Given the description of an element on the screen output the (x, y) to click on. 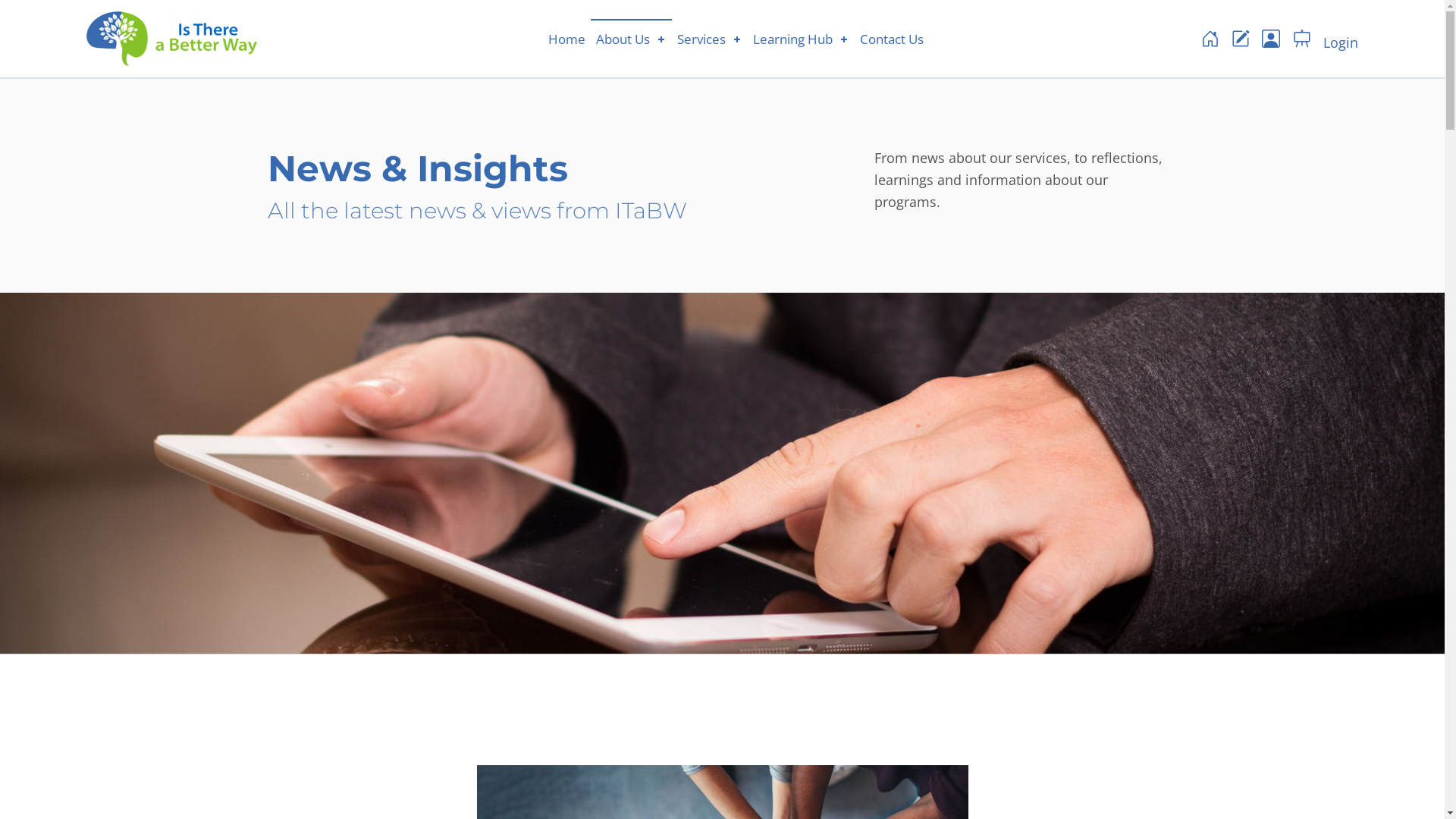
Learning Hub Element type: text (800, 38)
Home Element type: text (567, 38)
Services Element type: text (709, 38)
Contact Us Element type: text (891, 38)
About Us Element type: text (630, 38)
Login Element type: text (1340, 39)
